Given the description of an element on the screen output the (x, y) to click on. 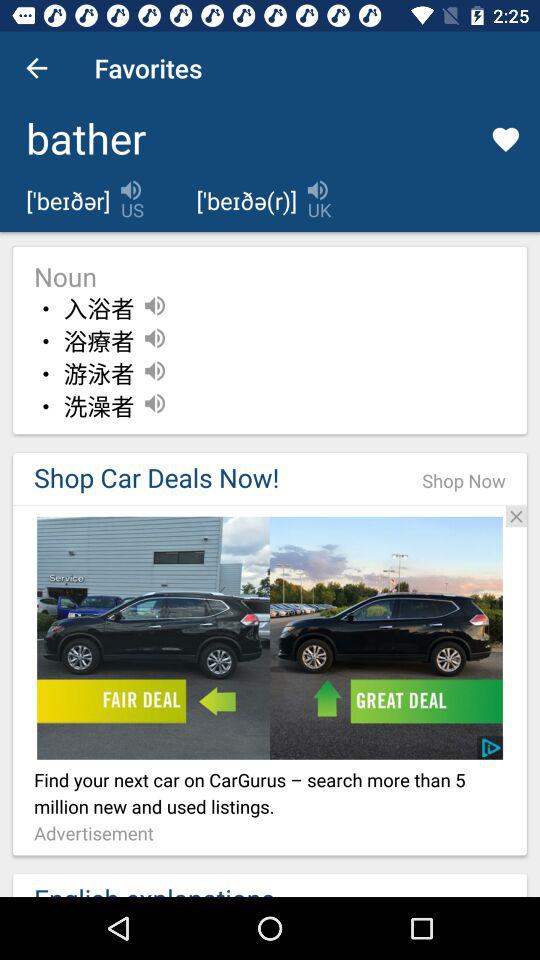
flip until the find your next (269, 794)
